Given the description of an element on the screen output the (x, y) to click on. 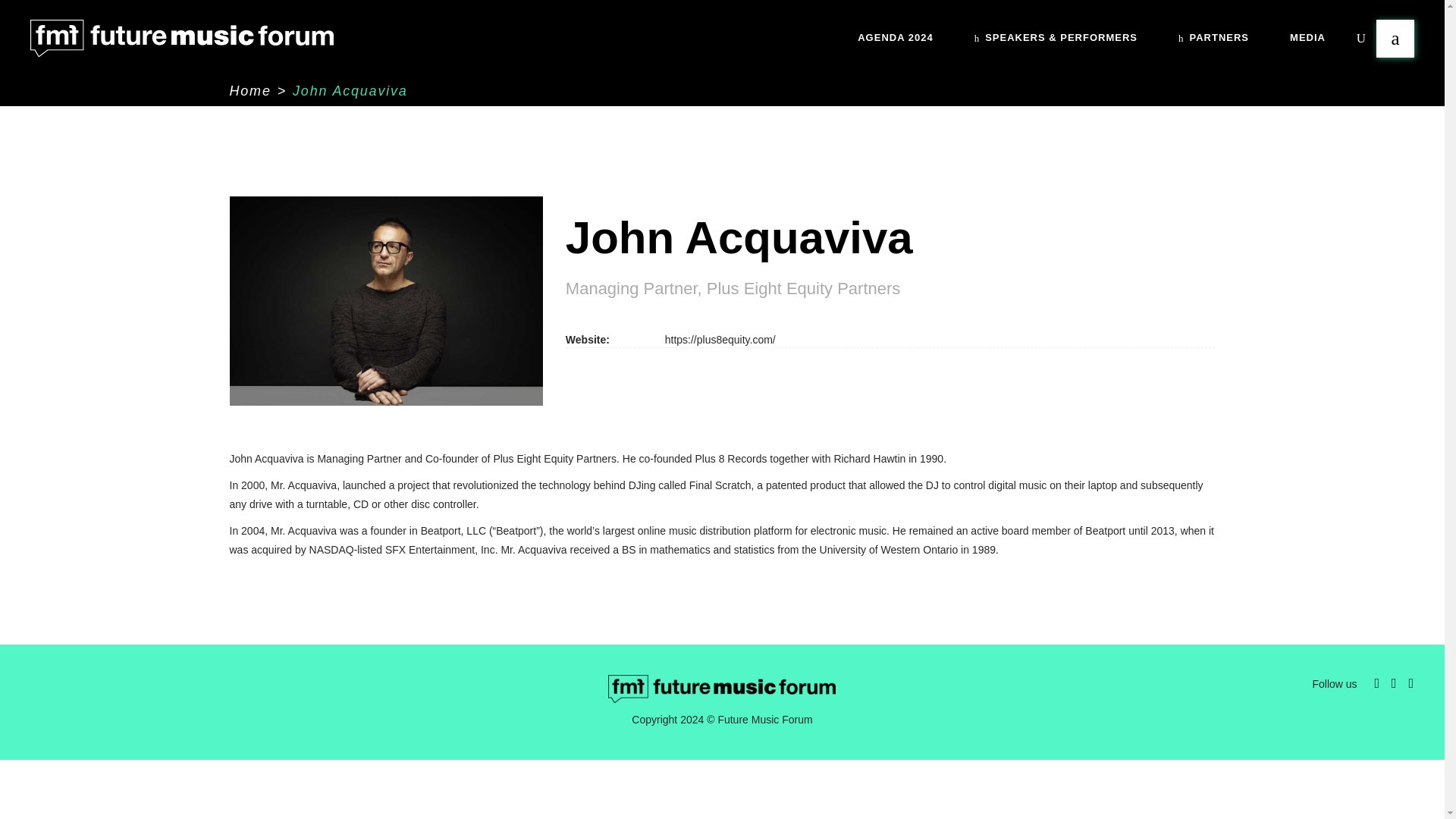
Home (249, 90)
PARTNERS (1213, 38)
AGENDA 2024 (895, 38)
MEDIA (1307, 38)
